Given the description of an element on the screen output the (x, y) to click on. 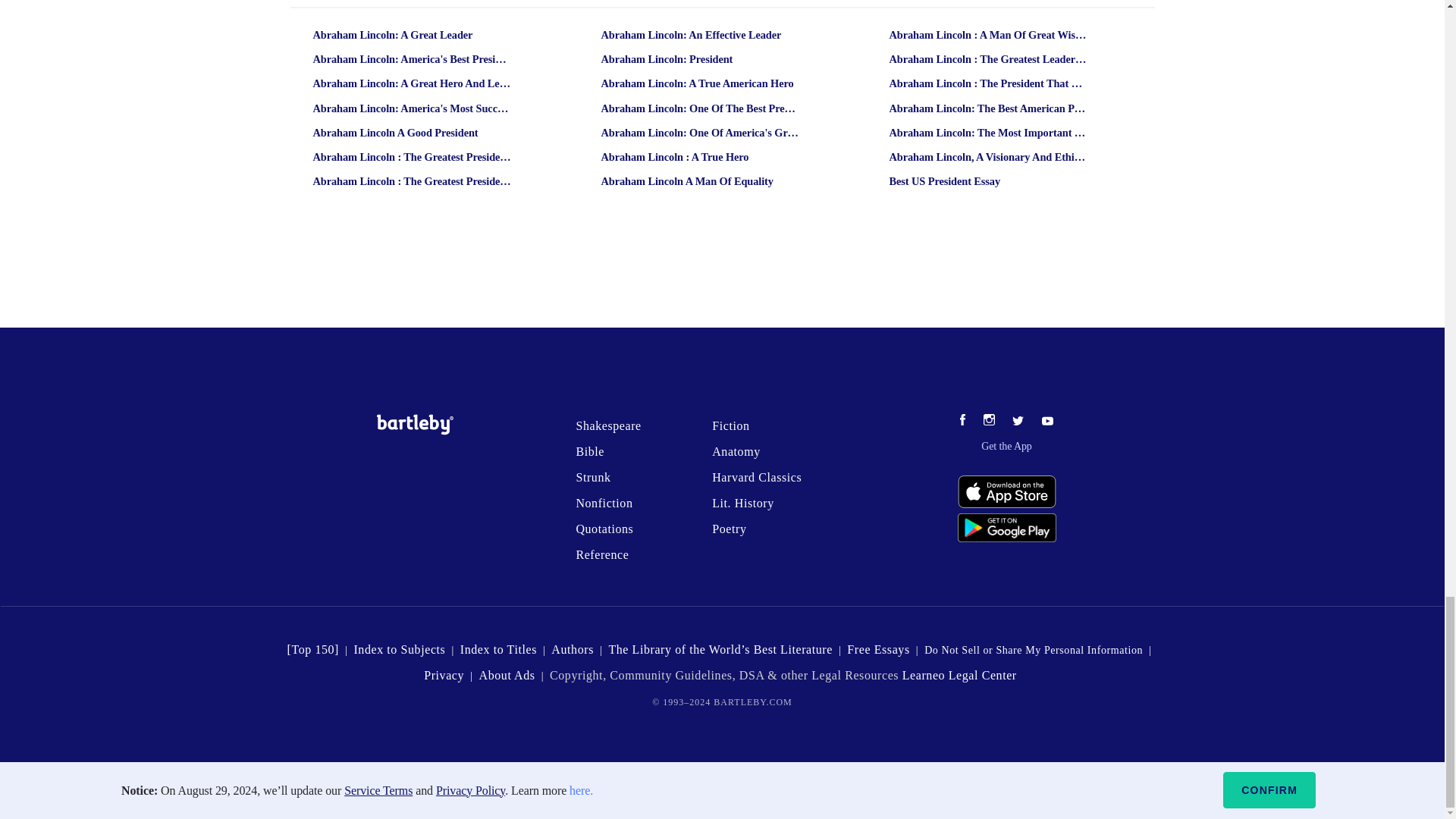
Abraham Lincoln: A Great Hero And Leader (411, 83)
Abraham Lincoln: America's Best President (411, 58)
Abraham Lincoln: One Of America's Greatest President (699, 132)
Abraham Lincoln : A Man Of Great Wisdom And Determination (988, 35)
Abraham Lincoln A Good President (411, 132)
Abraham Lincoln: America's Most Successful Man (411, 108)
Abraham Lincoln: President (699, 58)
Abraham Lincoln: The Best American President (988, 108)
